Given the description of an element on the screen output the (x, y) to click on. 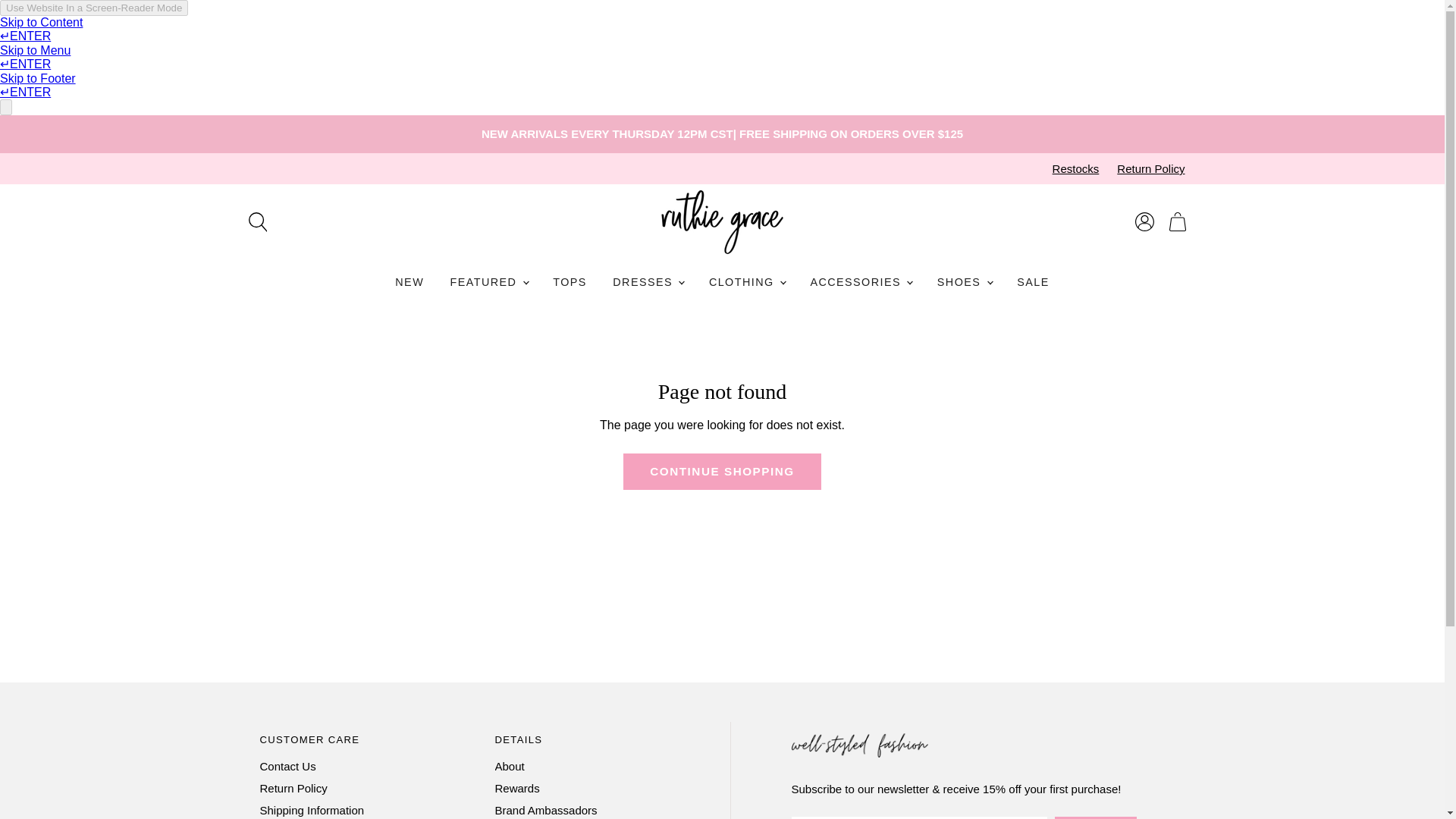
NEW (409, 282)
View account (1143, 221)
Return Policy (1150, 168)
FEATURED (488, 282)
Restocks (1075, 168)
Search (257, 221)
View cart (1177, 221)
